Given the description of an element on the screen output the (x, y) to click on. 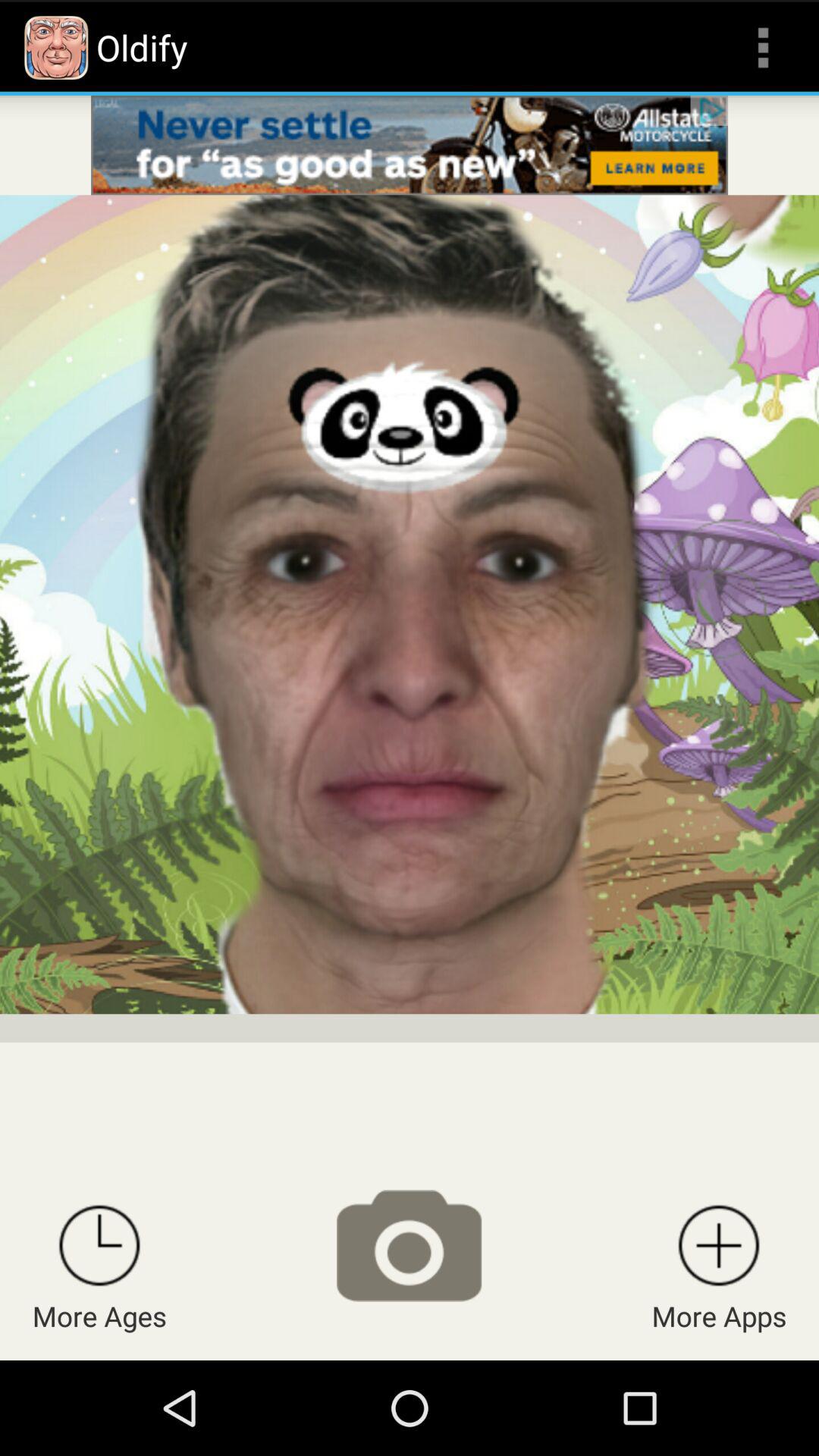
go to more ages options (99, 1245)
